Given the description of an element on the screen output the (x, y) to click on. 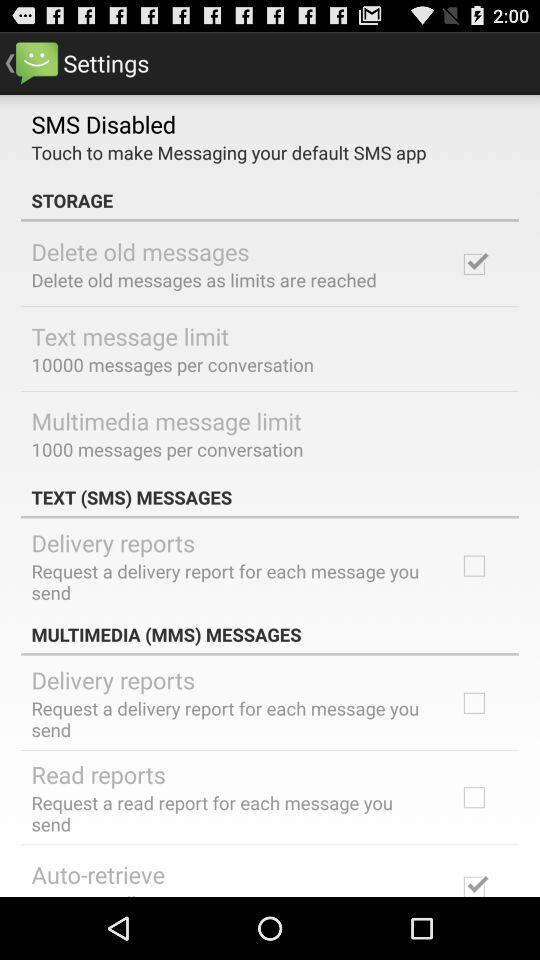
select item above the request a read (98, 774)
